Given the description of an element on the screen output the (x, y) to click on. 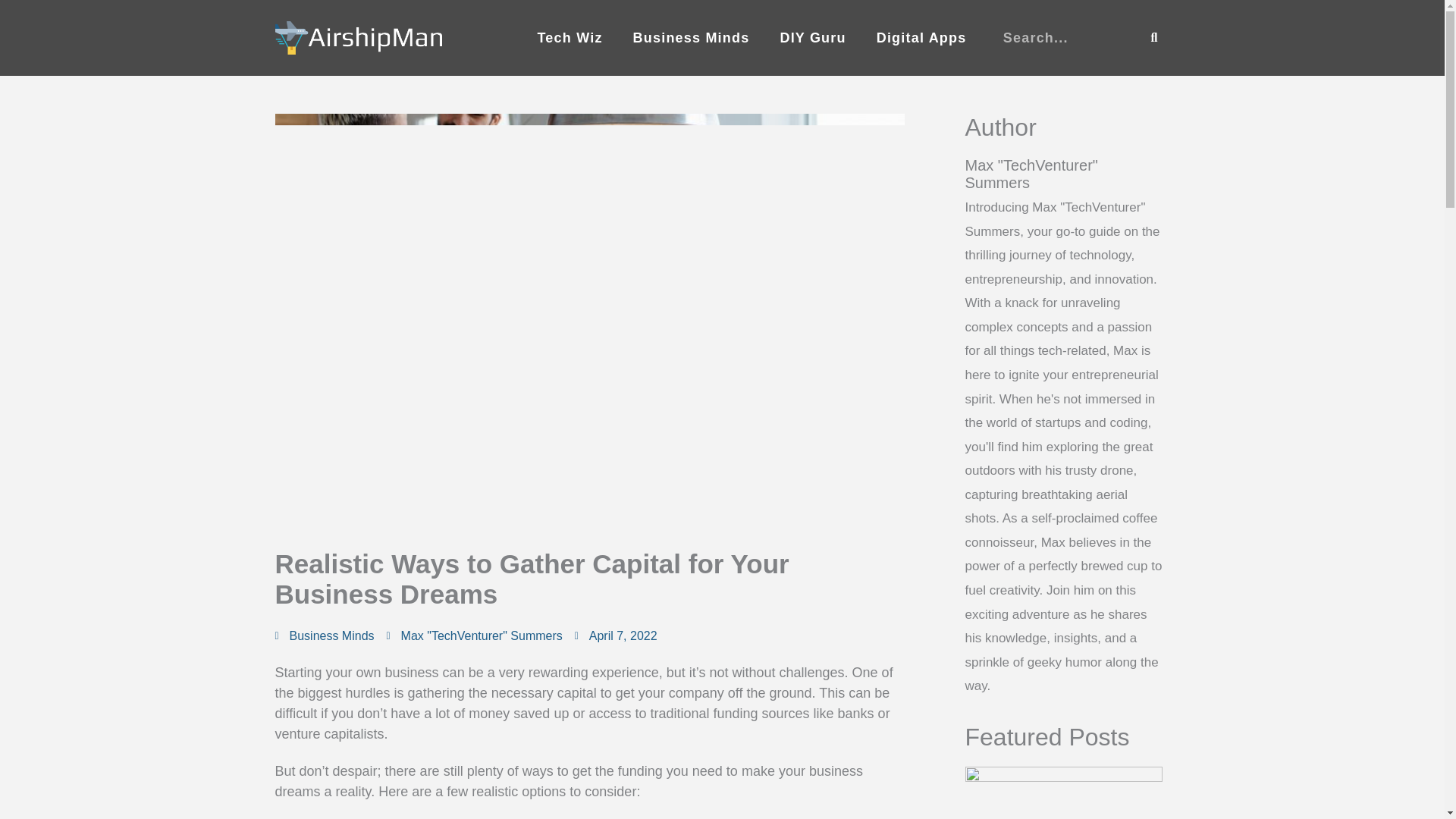
Tech Wiz (569, 37)
Business Minds (691, 37)
Search (1153, 37)
April 7, 2022 (616, 635)
Digital Apps (921, 37)
DIY Guru (812, 37)
Business Minds (331, 635)
